Given the description of an element on the screen output the (x, y) to click on. 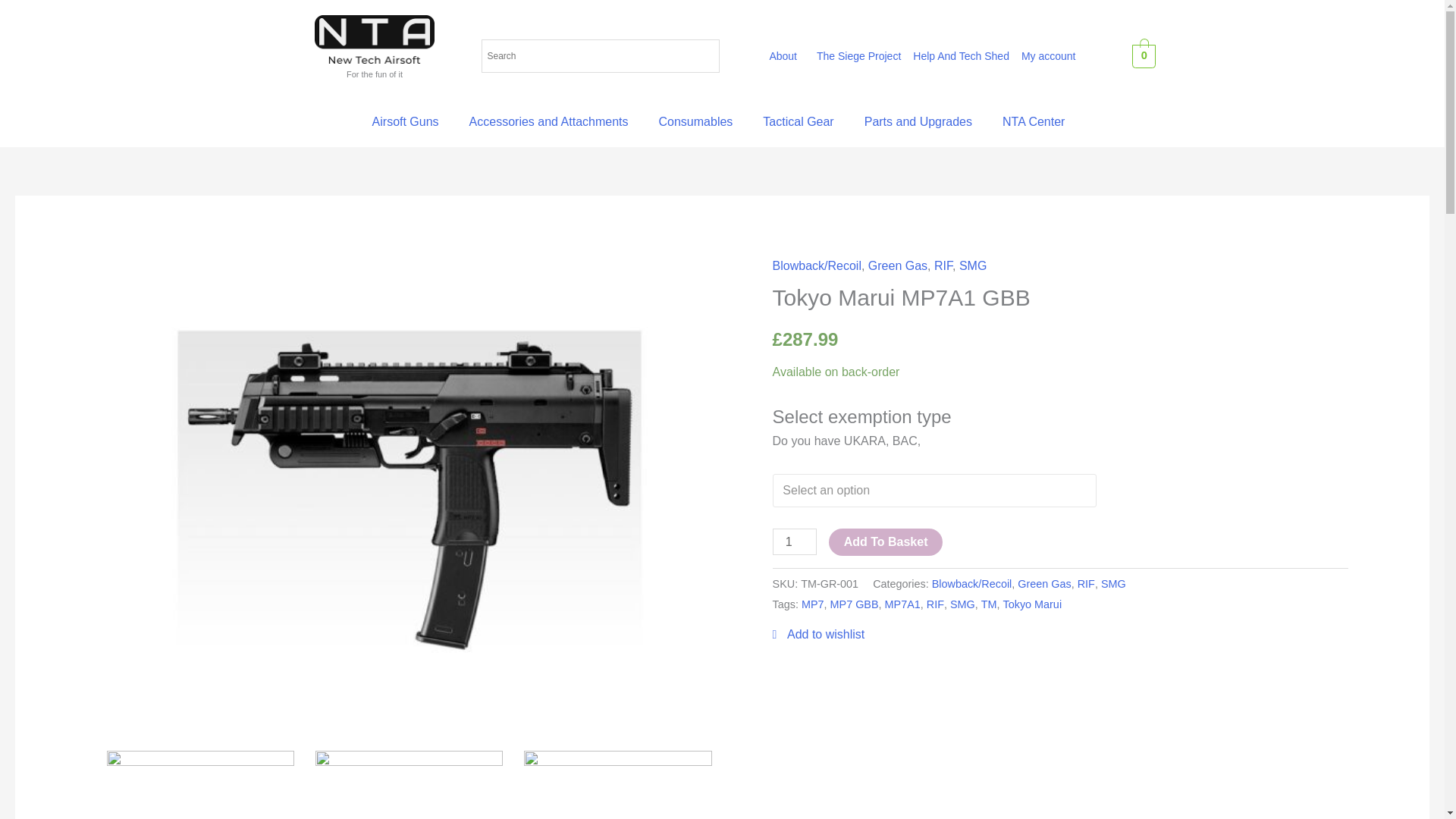
0 (1144, 55)
About (786, 55)
Accessories and Attachments (552, 121)
The Siege Project (858, 55)
My account (1051, 55)
Airsoft Guns (409, 121)
Help And Tech Shed (960, 55)
1 (794, 541)
View your shopping cart (1144, 55)
